Given the description of an element on the screen output the (x, y) to click on. 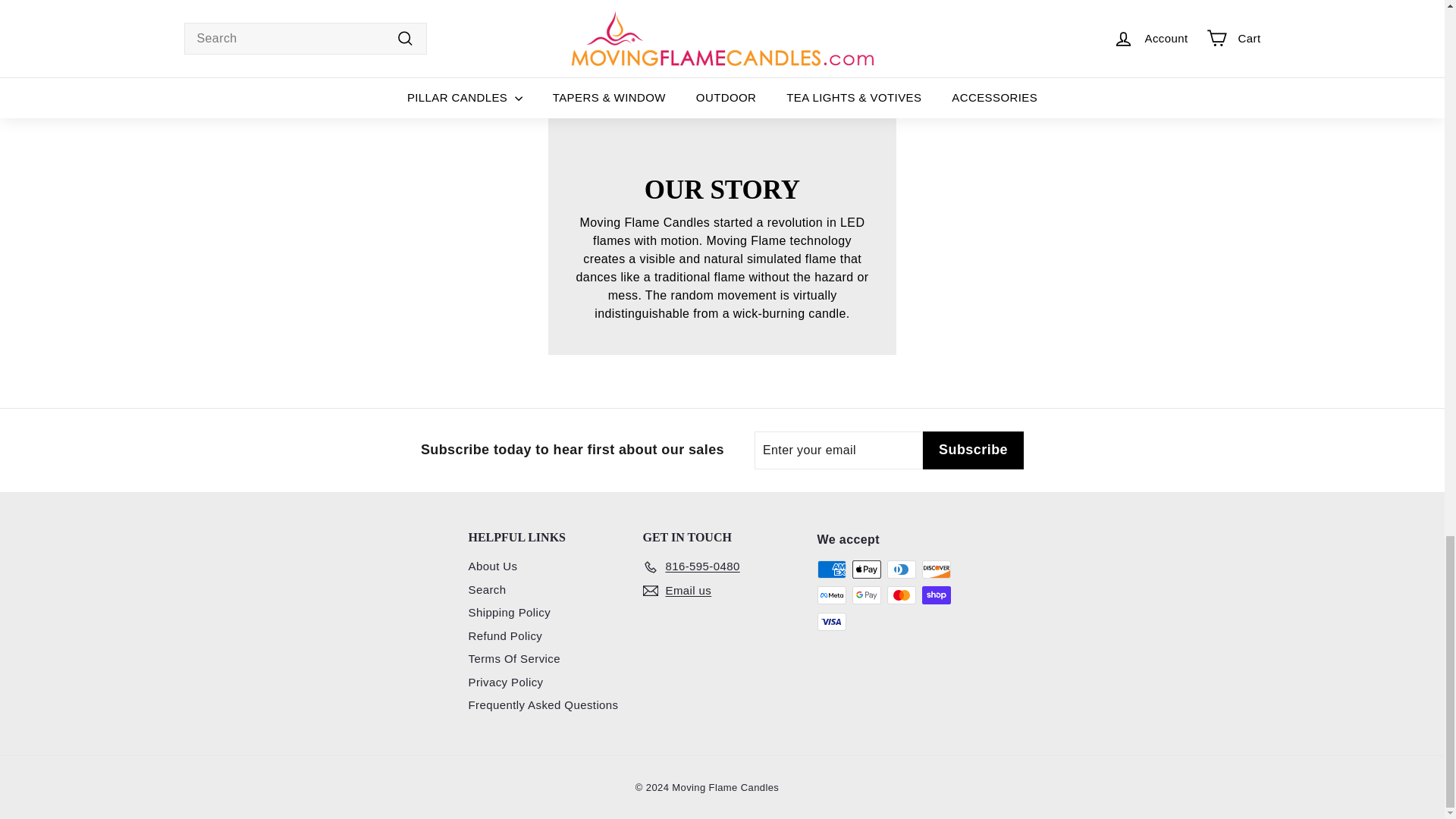
Google Pay (865, 595)
Shop Pay (935, 595)
Diners Club (900, 569)
Meta Pay (830, 595)
Apple Pay (865, 569)
Discover (935, 569)
American Express (830, 569)
Mastercard (900, 595)
